Given the description of an element on the screen output the (x, y) to click on. 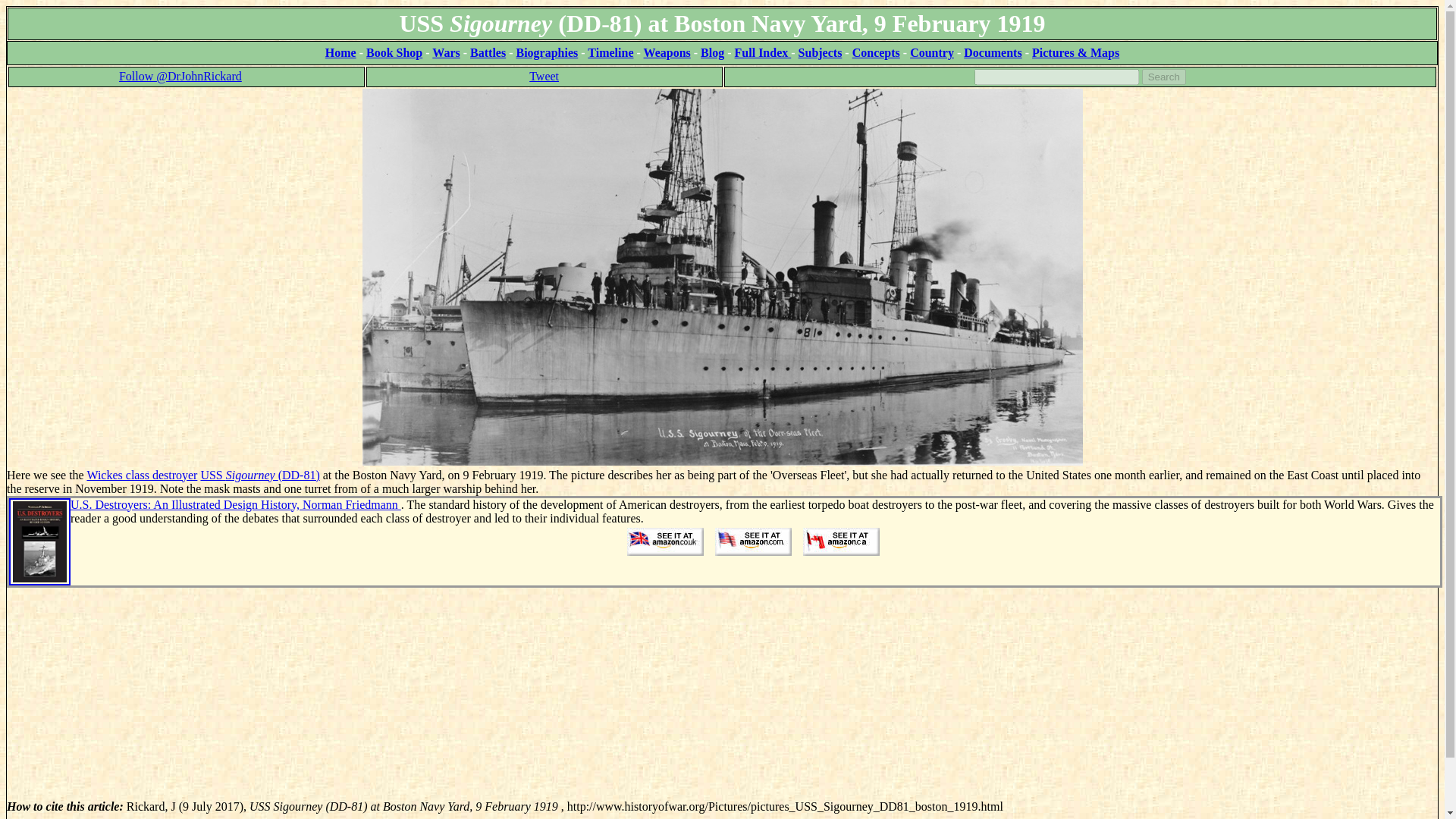
Main Index of articles (763, 51)
Home (340, 51)
Wars (446, 51)
Special Subject Indexes (820, 51)
Book Shop (394, 51)
Timeline (610, 51)
Index of articles on Wars (446, 51)
Timeline of Military History (610, 51)
Documents (992, 51)
Return to Home Page (340, 51)
Search (1163, 76)
Weapons (666, 51)
indexes organised by country (931, 51)
Battles (487, 51)
Wickes class destroyer (140, 474)
